Given the description of an element on the screen output the (x, y) to click on. 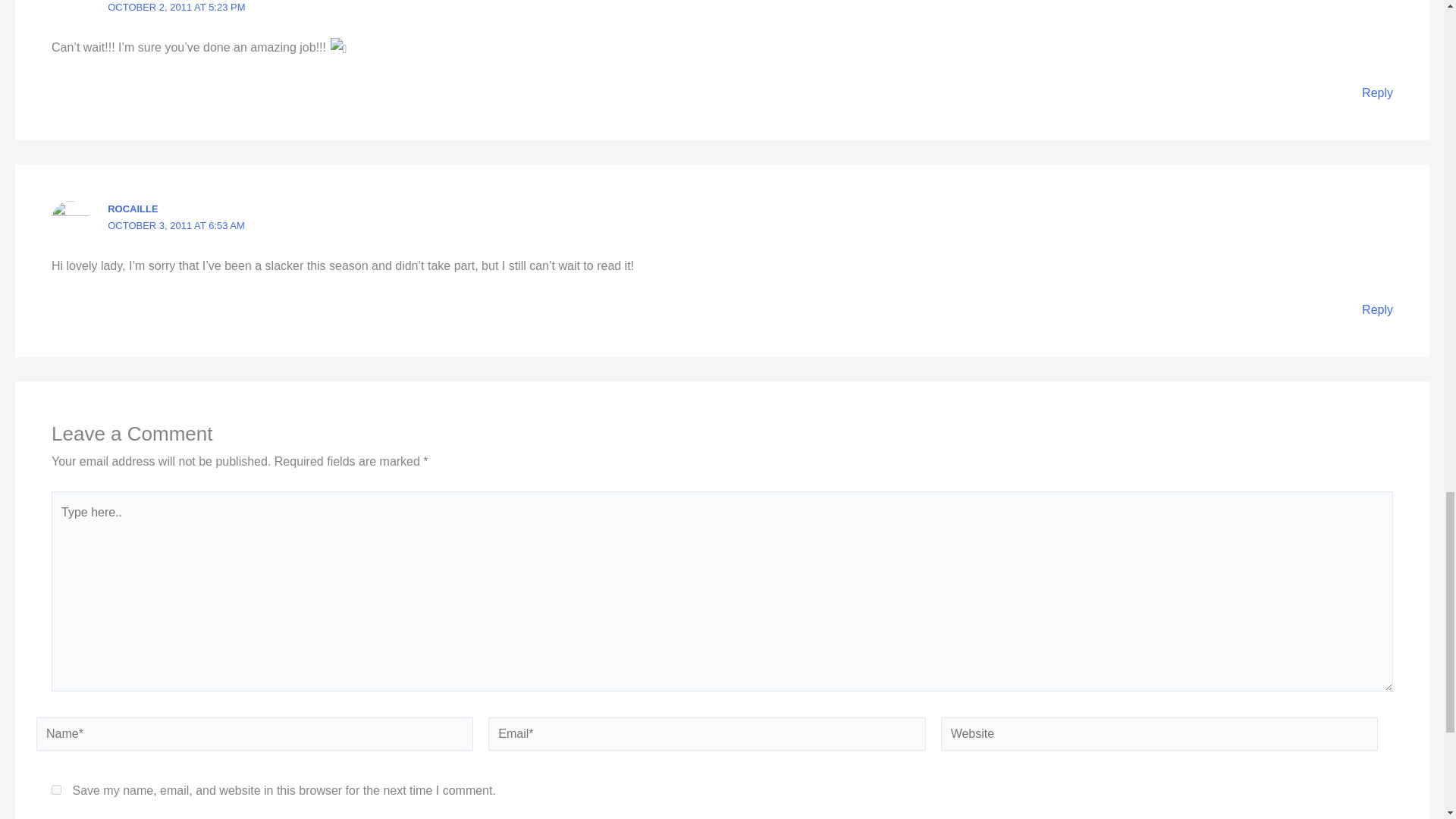
ROCAILLE (132, 208)
Reply (1377, 92)
yes (55, 788)
OCTOBER 3, 2011 AT 6:53 AM (175, 225)
OCTOBER 2, 2011 AT 5:23 PM (175, 7)
Reply (1377, 309)
